Given the description of an element on the screen output the (x, y) to click on. 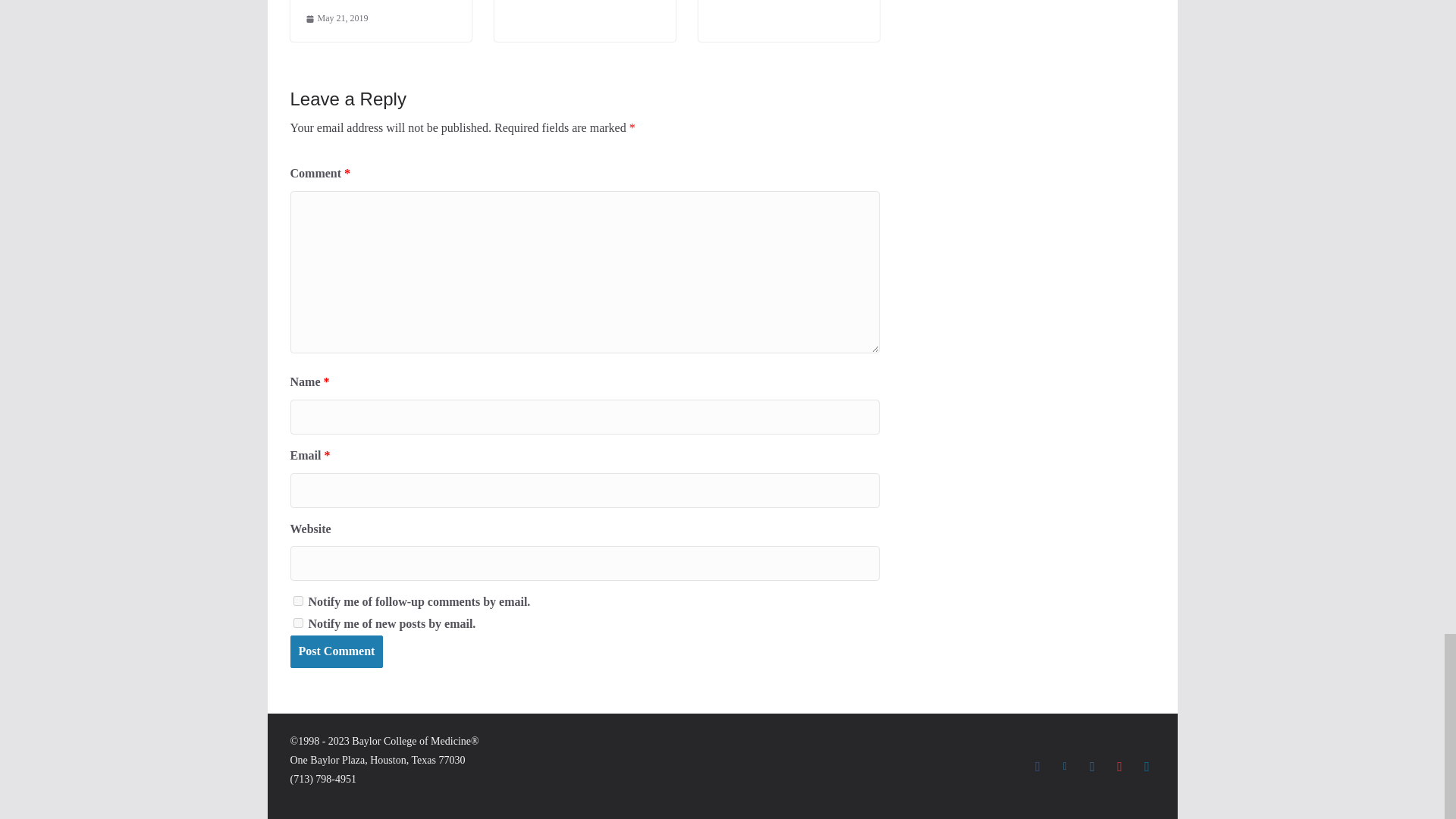
Post Comment (335, 651)
10:00 am (336, 18)
subscribe (297, 601)
subscribe (297, 623)
